Given the description of an element on the screen output the (x, y) to click on. 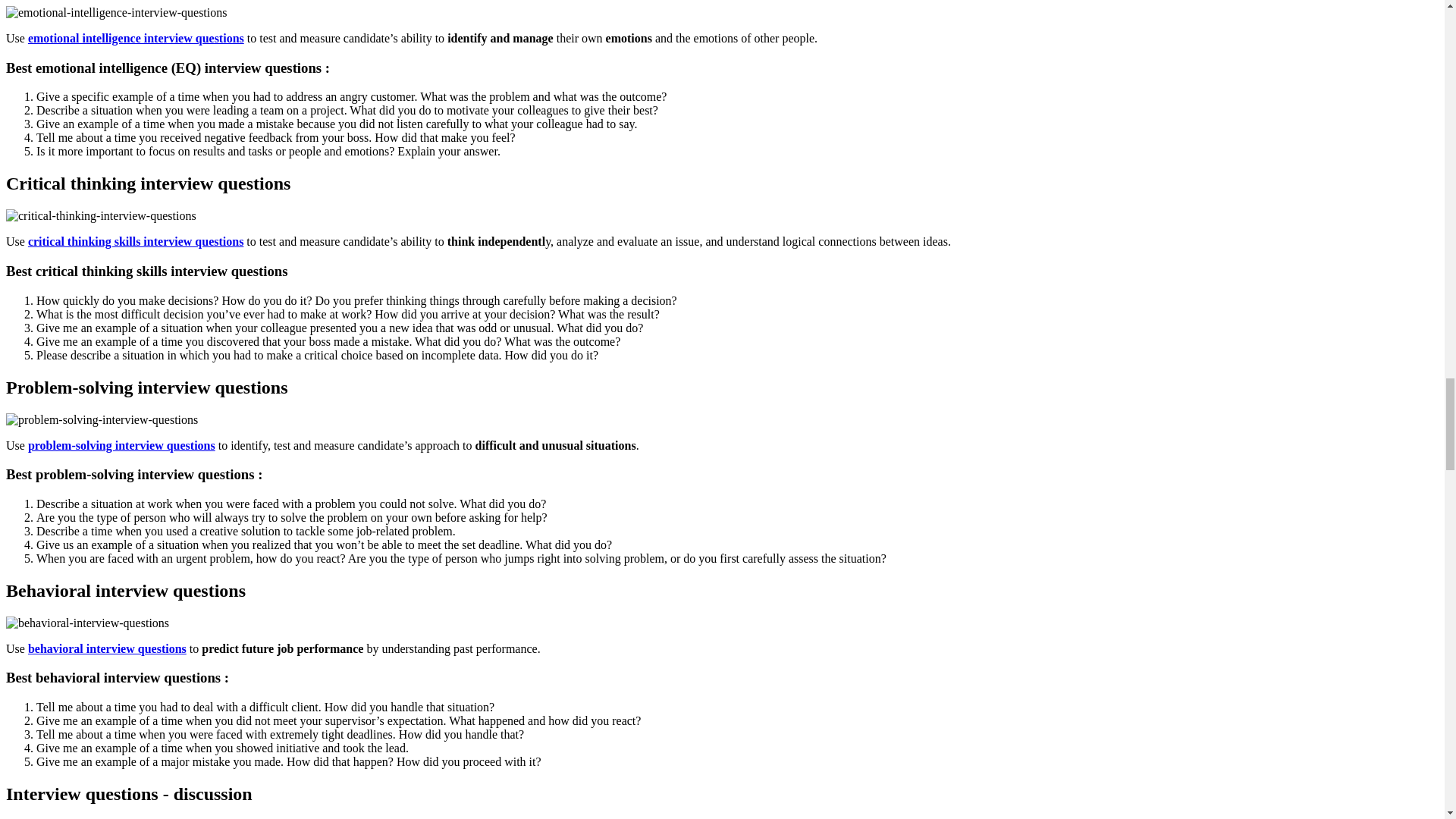
problem-solving-interview-questions (101, 418)
critical-thinking-interview-questions (100, 215)
emotional-intelligence-interview-questions (116, 12)
behavioral-interview-questions (86, 622)
